Given the description of an element on the screen output the (x, y) to click on. 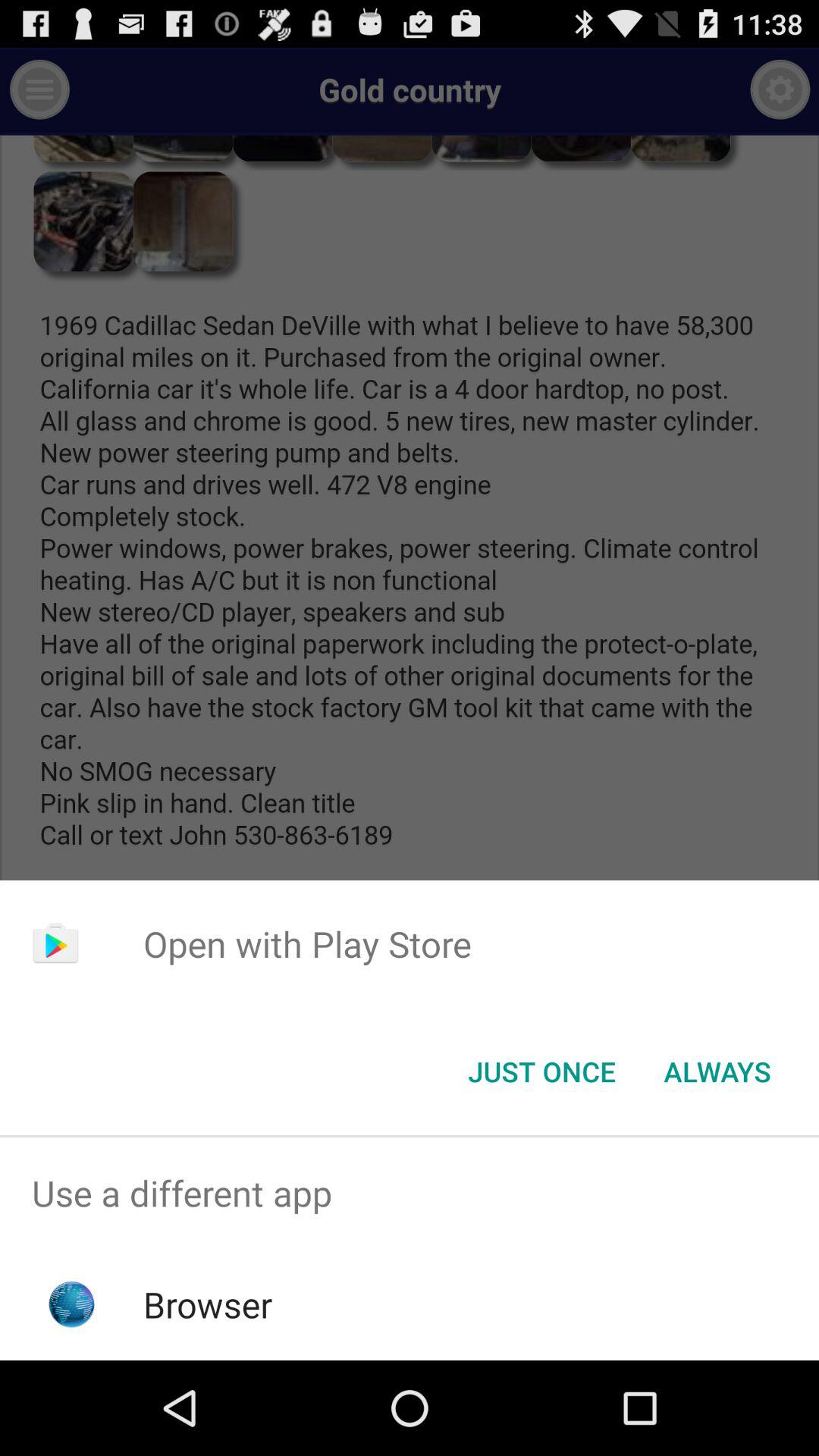
click the browser item (207, 1304)
